Given the description of an element on the screen output the (x, y) to click on. 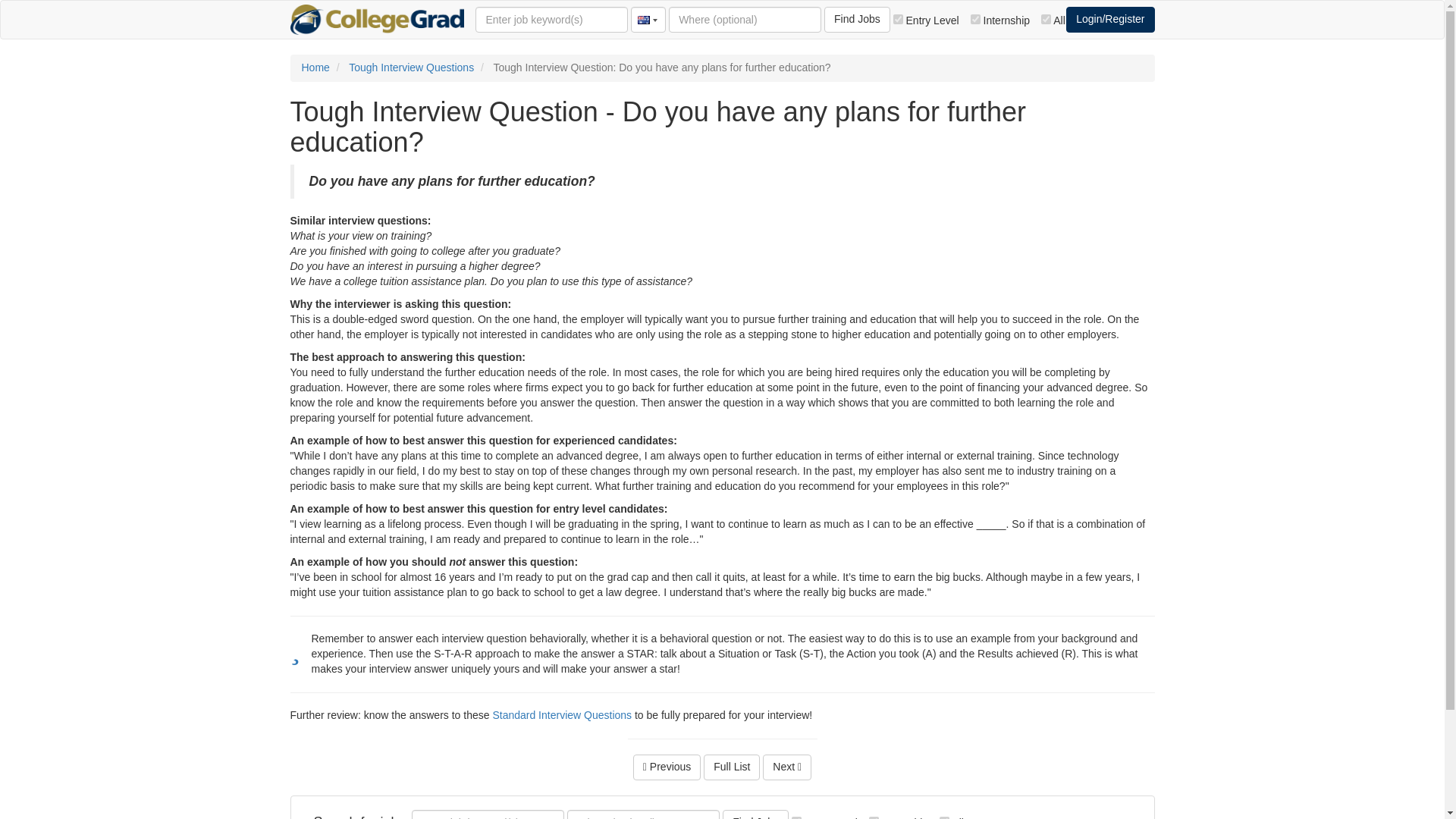
4 (1046, 18)
Australia (646, 19)
Standard Interview Questions (561, 715)
Home (315, 67)
2 (975, 18)
Previous (666, 767)
Find Jobs (755, 814)
Tough Interview Questions (411, 67)
Full List (731, 767)
Find Jobs (856, 19)
Next (786, 767)
1 (897, 18)
